Given the description of an element on the screen output the (x, y) to click on. 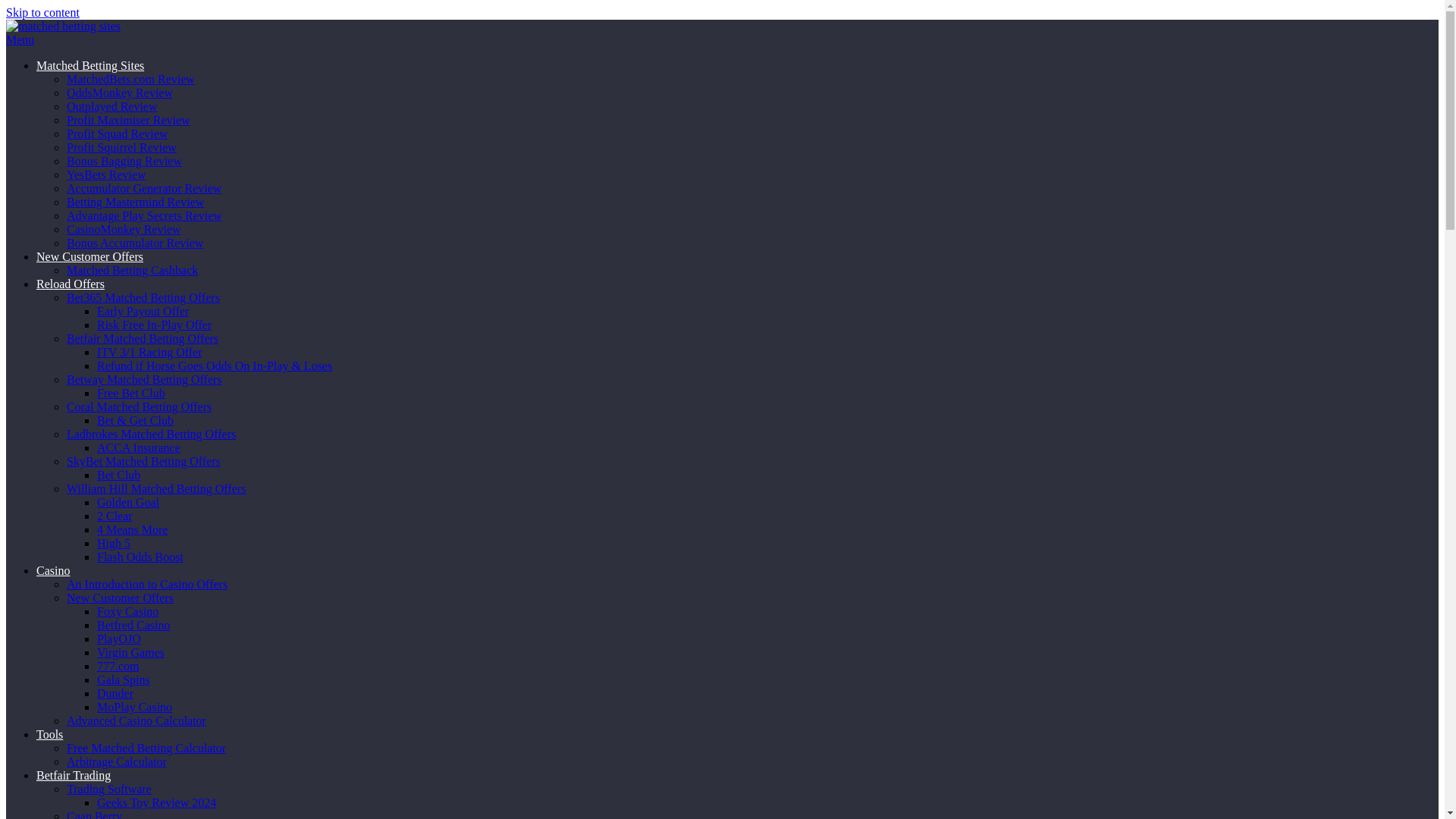
New Customer Offers (89, 256)
Profit Maximiser Review (128, 119)
ACCA Insurance (138, 447)
Free Bet Club (131, 392)
Early Payout Offer (143, 310)
4 Means More (132, 529)
Reload Offers (70, 283)
Advantage Play Secrets Review (144, 215)
2 Clear (114, 515)
SkyBet Matched Betting Offers (143, 461)
